Given the description of an element on the screen output the (x, y) to click on. 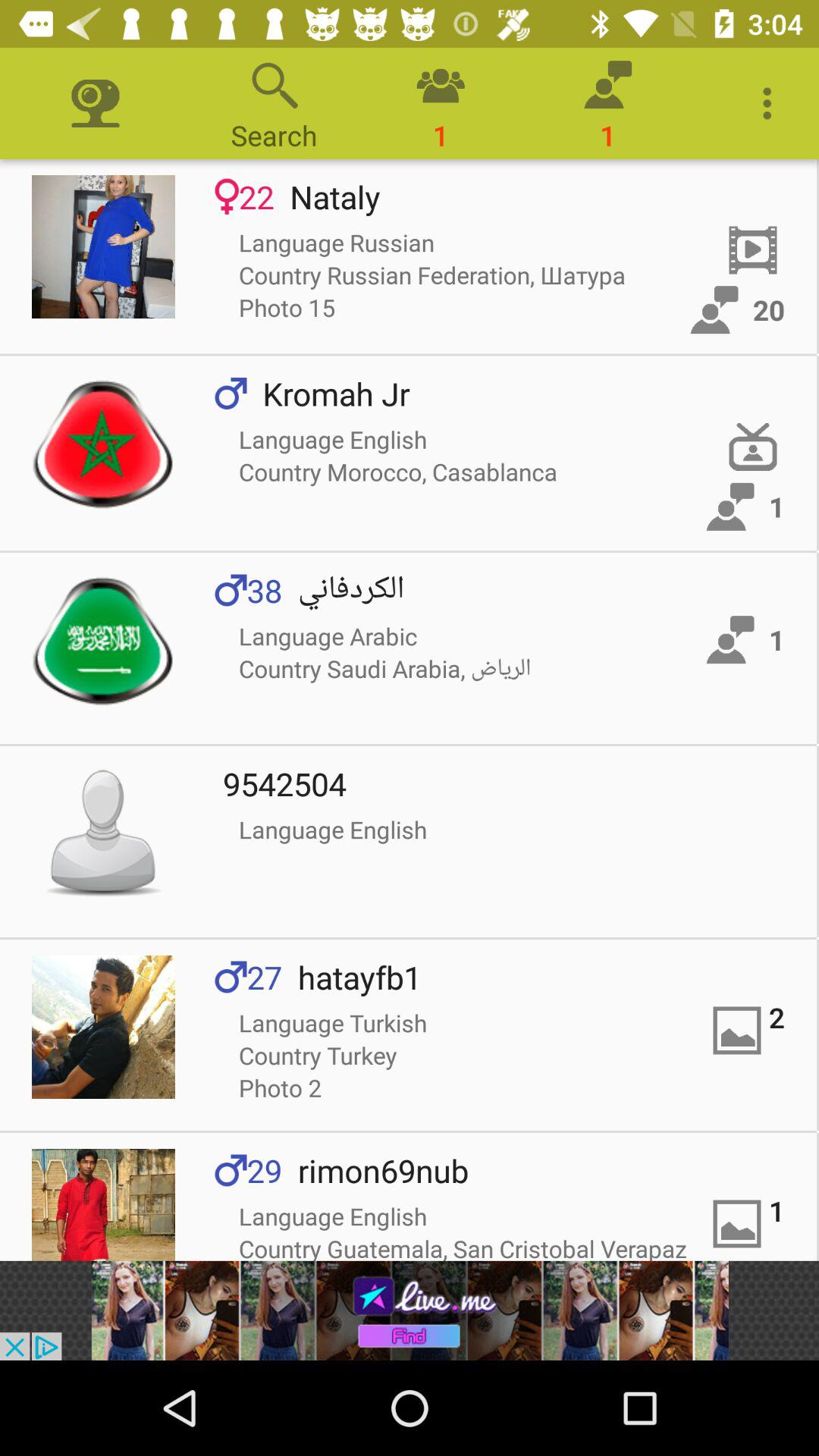
select the add (409, 1310)
